Given the description of an element on the screen output the (x, y) to click on. 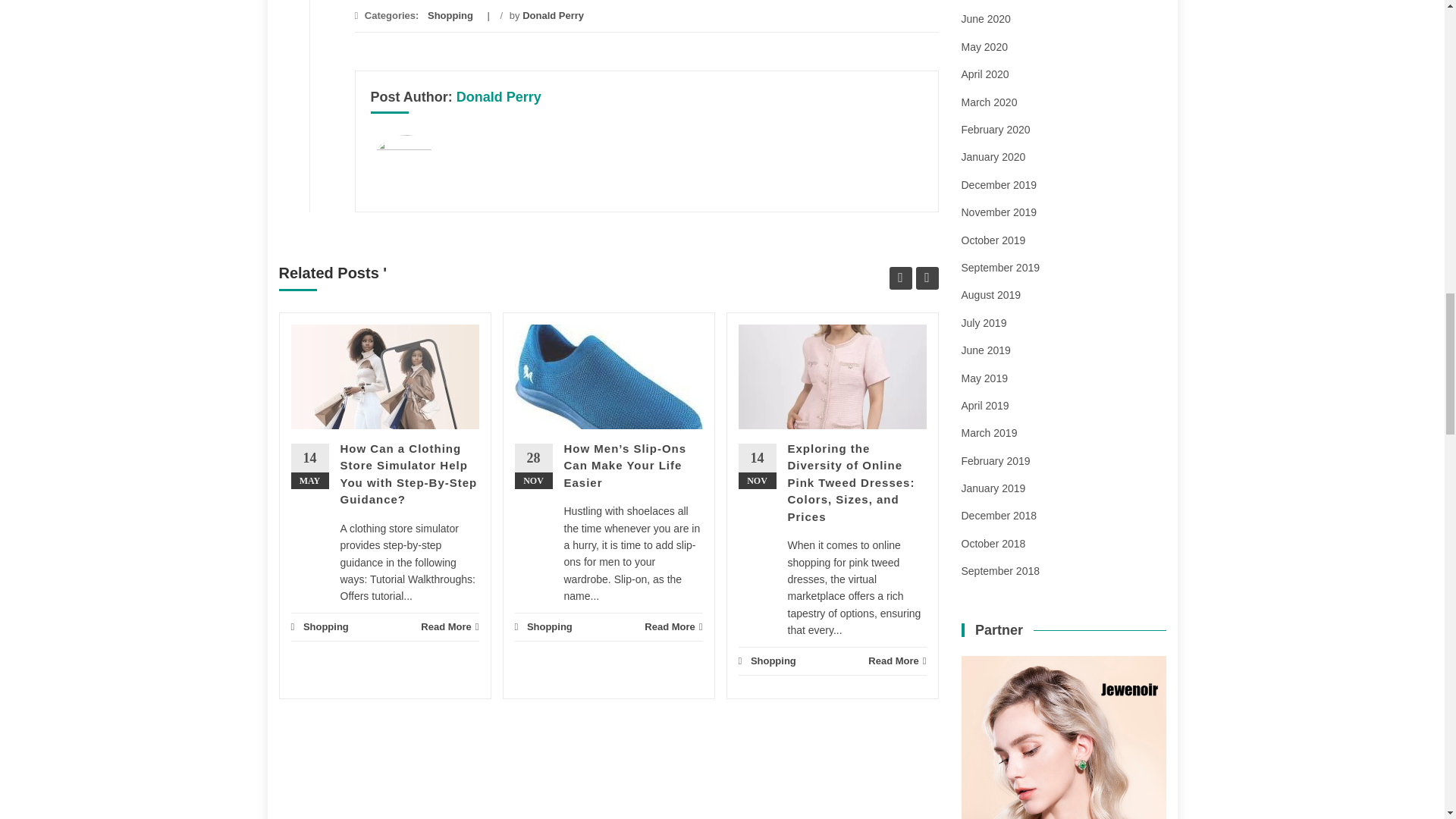
Donald Perry (499, 96)
Shopping (450, 15)
Shopping (325, 626)
Donald Perry (552, 15)
